Given the description of an element on the screen output the (x, y) to click on. 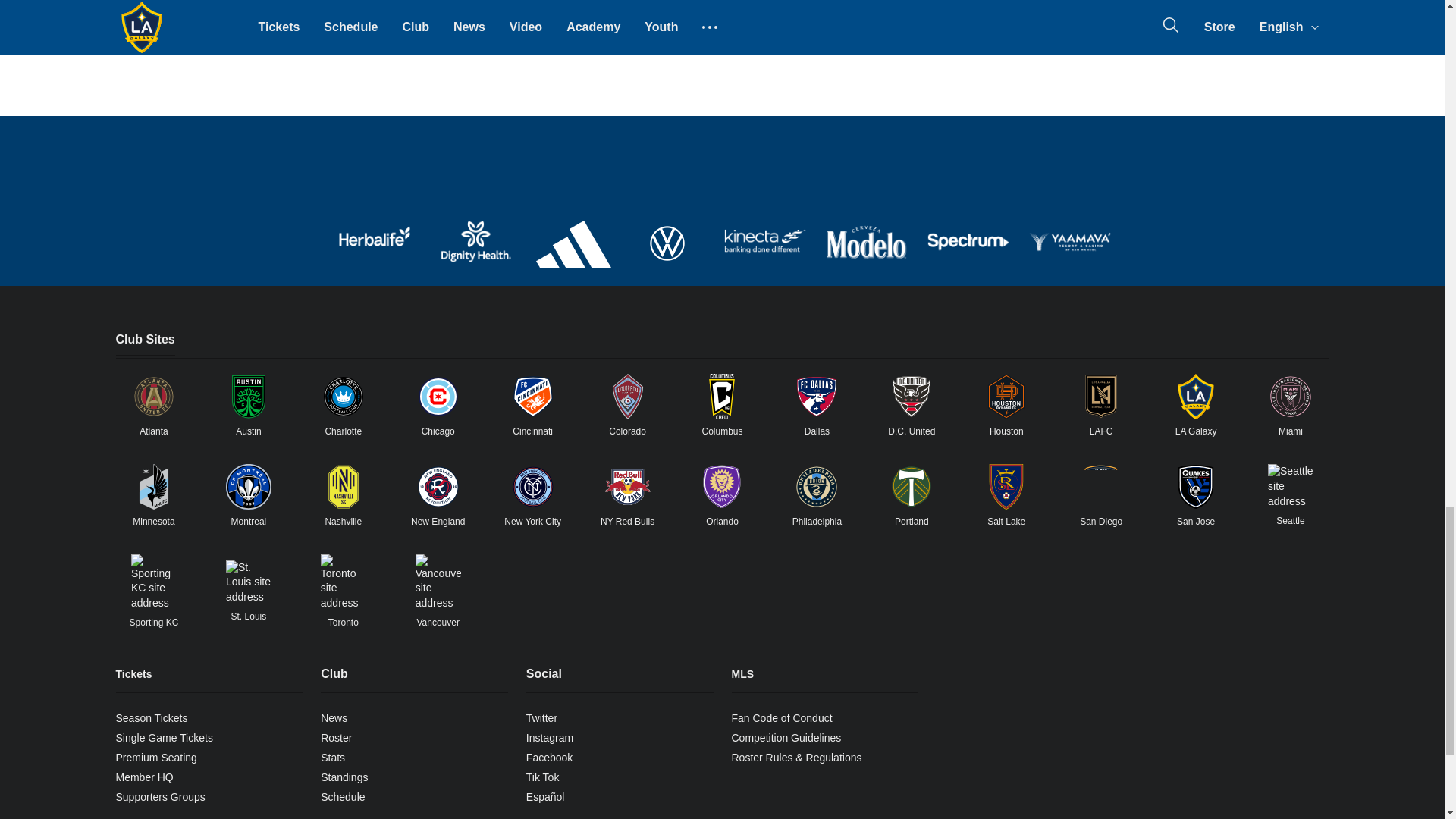
Link to Austin (247, 396)
Link to Chicago (437, 396)
Link to Dallas (816, 396)
Link to Columbus (721, 396)
Link to LAFC (1101, 396)
Link to Minnesota (153, 486)
Link to Charlotte (343, 396)
Link to D.C. United (911, 396)
Link to Cincinnati (533, 396)
Link to Miami (1290, 396)
